Given the description of an element on the screen output the (x, y) to click on. 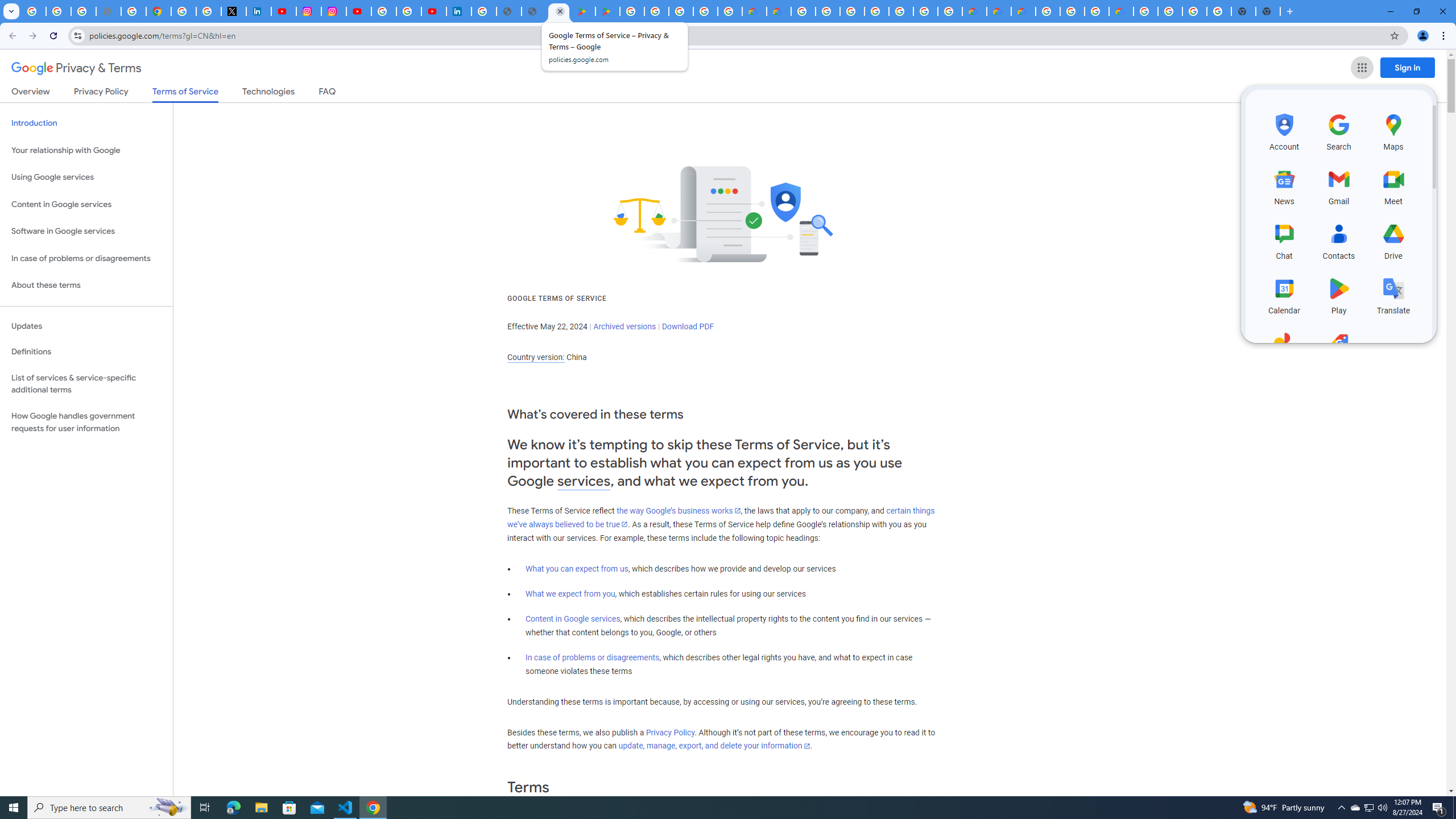
Restore (1416, 11)
Privacy Help Center - Policies Help (133, 11)
Google Cloud Platform (925, 11)
Minimize (1390, 11)
Privacy & Terms (76, 68)
google_privacy_policy_en.pdf (509, 11)
About these terms (86, 284)
Google Cloud Estimate Summary (1023, 11)
Browse Chrome as a guest - Computer - Google Chrome Help (1072, 11)
